Given the description of an element on the screen output the (x, y) to click on. 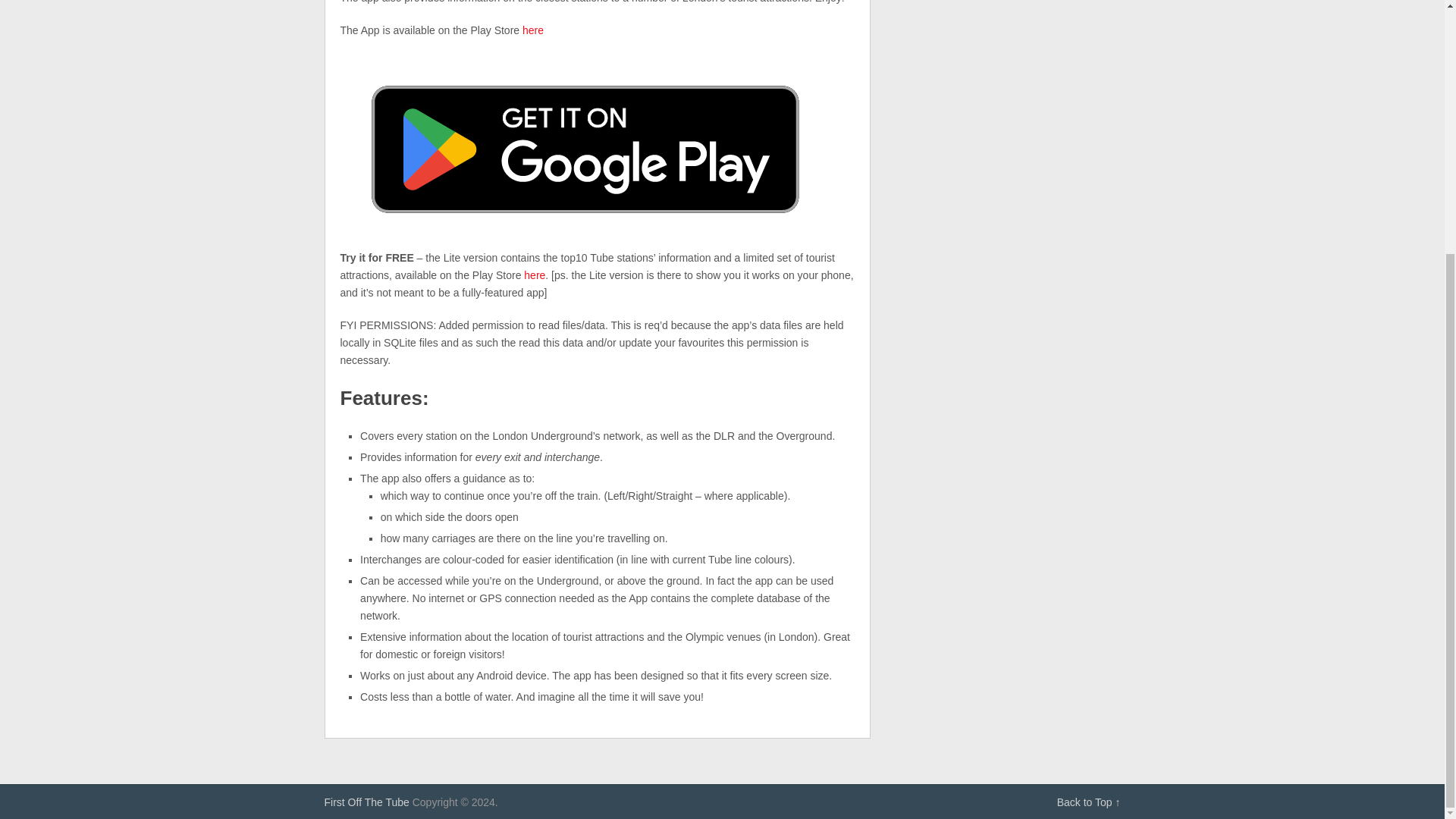
Never take the wrong end again (366, 802)
First Off The Tube (366, 802)
here (534, 275)
here (532, 30)
